Given the description of an element on the screen output the (x, y) to click on. 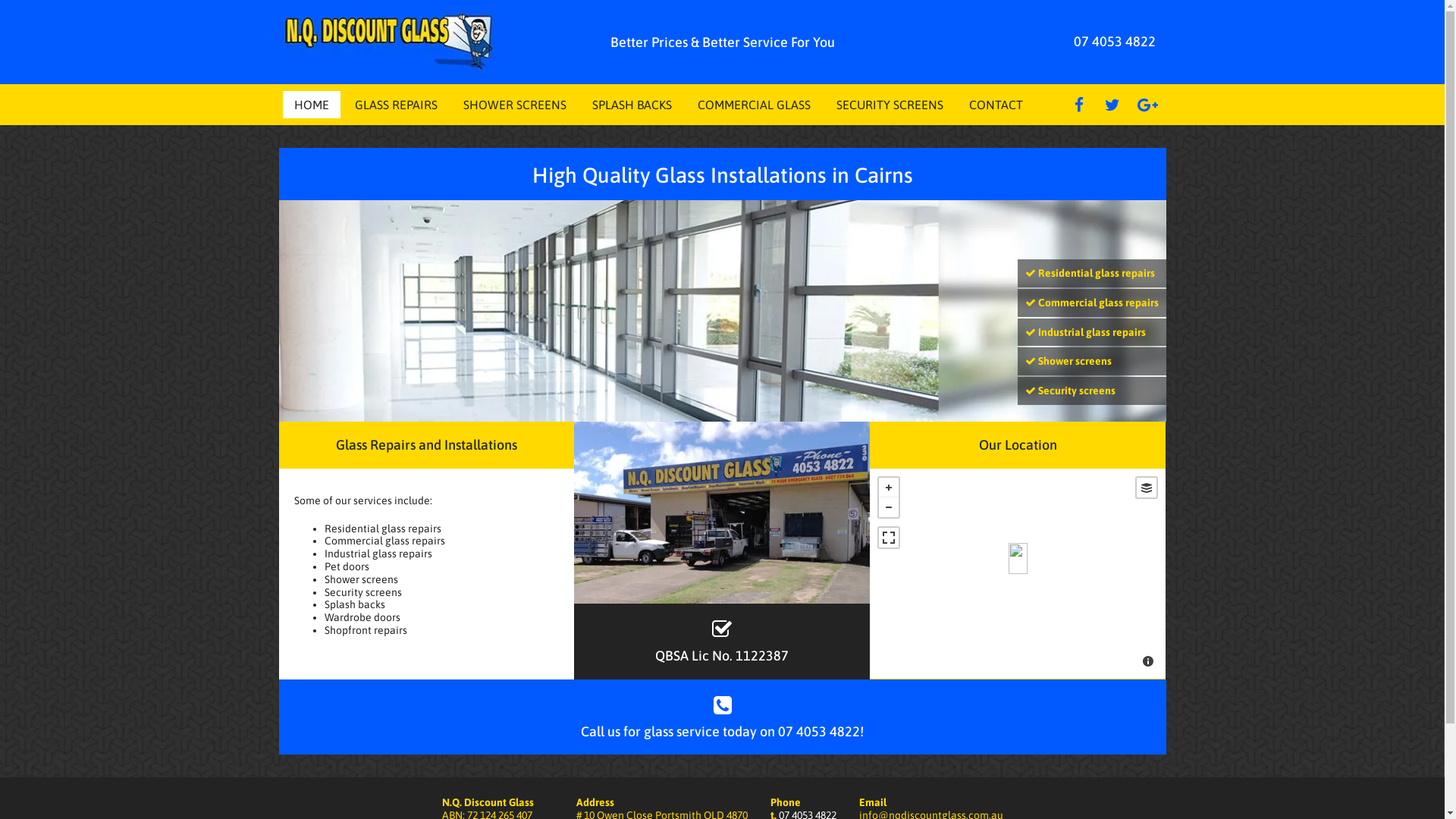
+ Element type: text (888, 487)
07 4053 4822 Element type: text (818, 731)
- Element type: text (888, 507)
COMMERCIAL GLASS Element type: text (753, 104)
SPLASH BACKS Element type: text (631, 104)
nq discount glass walls Element type: hover (722, 311)
nq discount logo Element type: hover (389, 41)
07 4053 4822 Element type: text (1114, 41)
Layers Element type: hover (1146, 487)
SHOWER SCREENS Element type: text (513, 104)
nq discount workshop Element type: hover (721, 512)
SECURITY SCREENS Element type: text (888, 104)
HOME Element type: text (311, 104)
View Fullscreen Element type: hover (888, 537)
CONTACT Element type: text (995, 104)
GLASS REPAIRS Element type: text (395, 104)
